Given the description of an element on the screen output the (x, y) to click on. 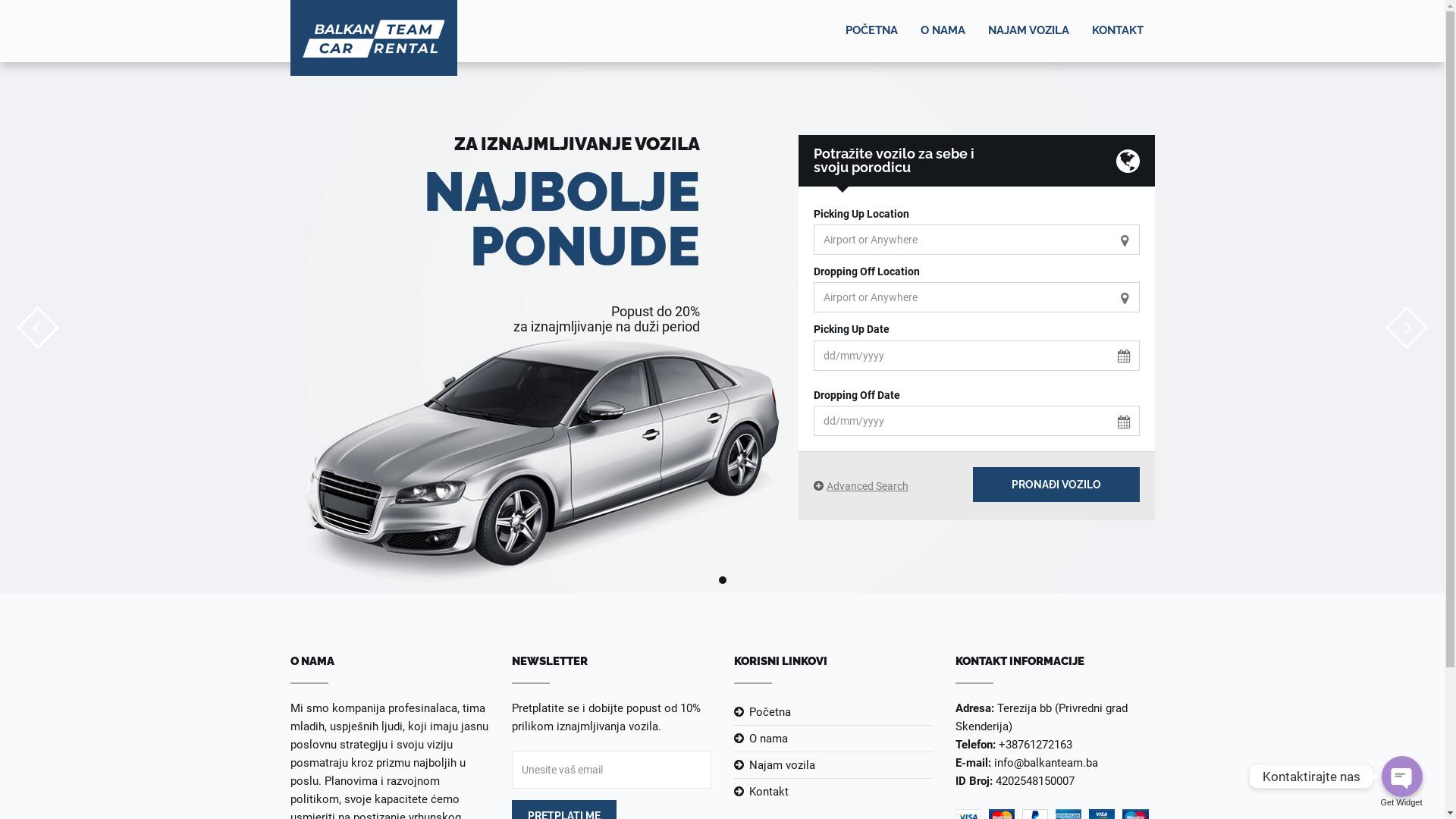
NAJAM VOZILA Element type: text (1028, 31)
O nama Element type: text (833, 738)
Kontakt Element type: text (833, 791)
Advanced Search Element type: text (867, 486)
O NAMA Element type: text (941, 31)
Get Widget Element type: text (1401, 802)
Najam vozila Element type: text (833, 765)
KONTAKT Element type: text (1116, 31)
